Given the description of an element on the screen output the (x, y) to click on. 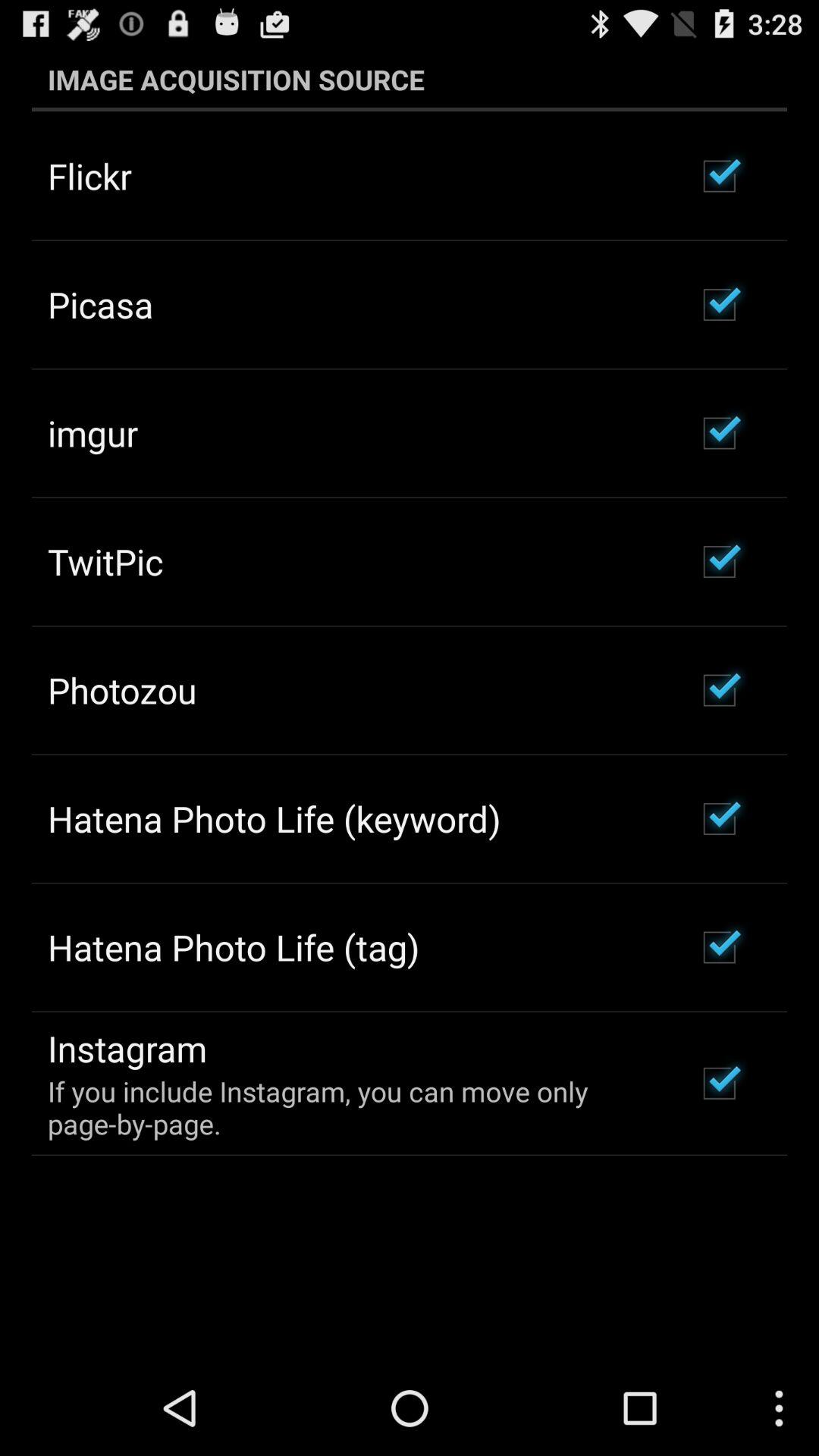
launch the if you include icon (351, 1107)
